Given the description of an element on the screen output the (x, y) to click on. 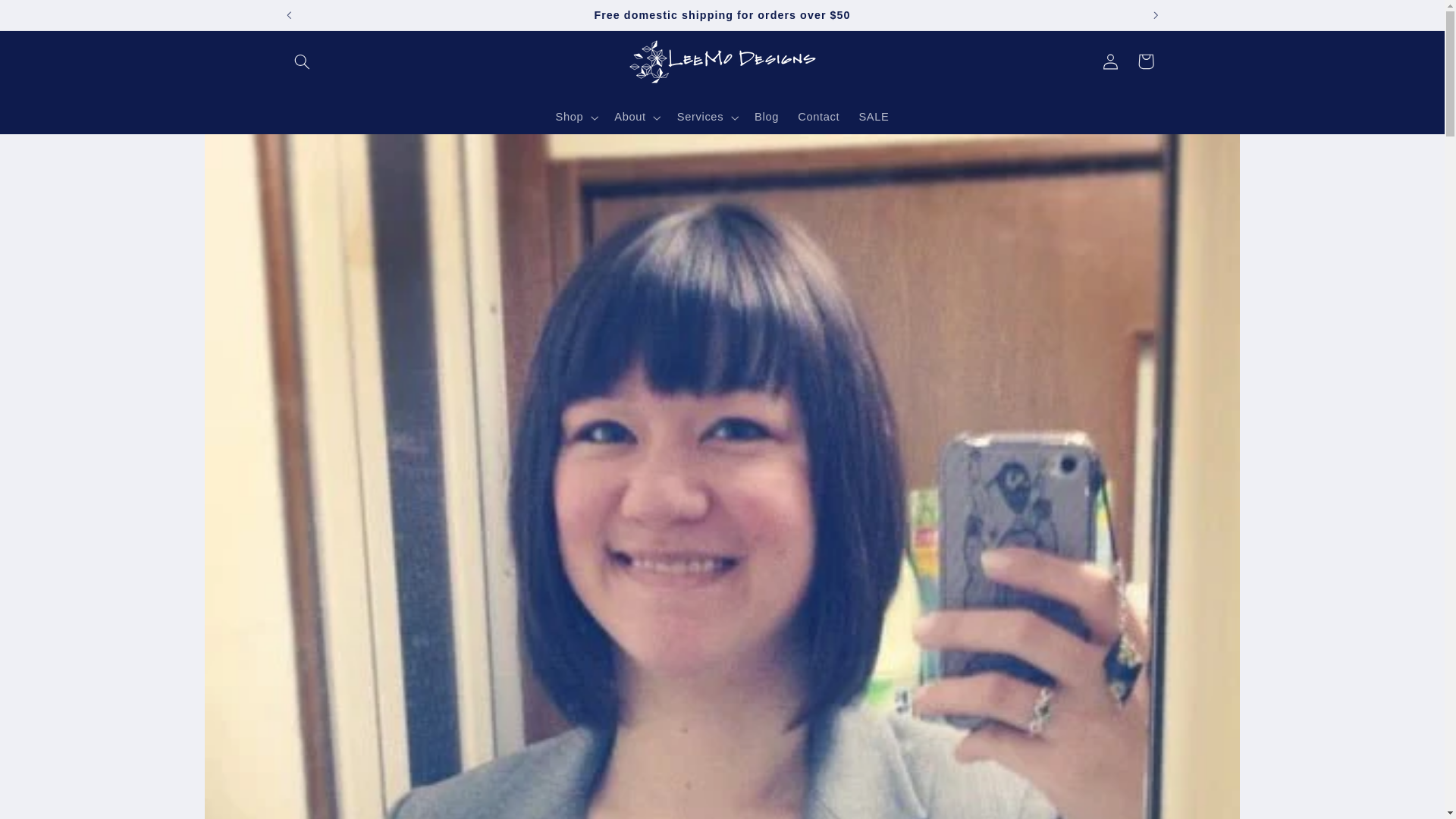
Skip to content (48, 18)
